Given the description of an element on the screen output the (x, y) to click on. 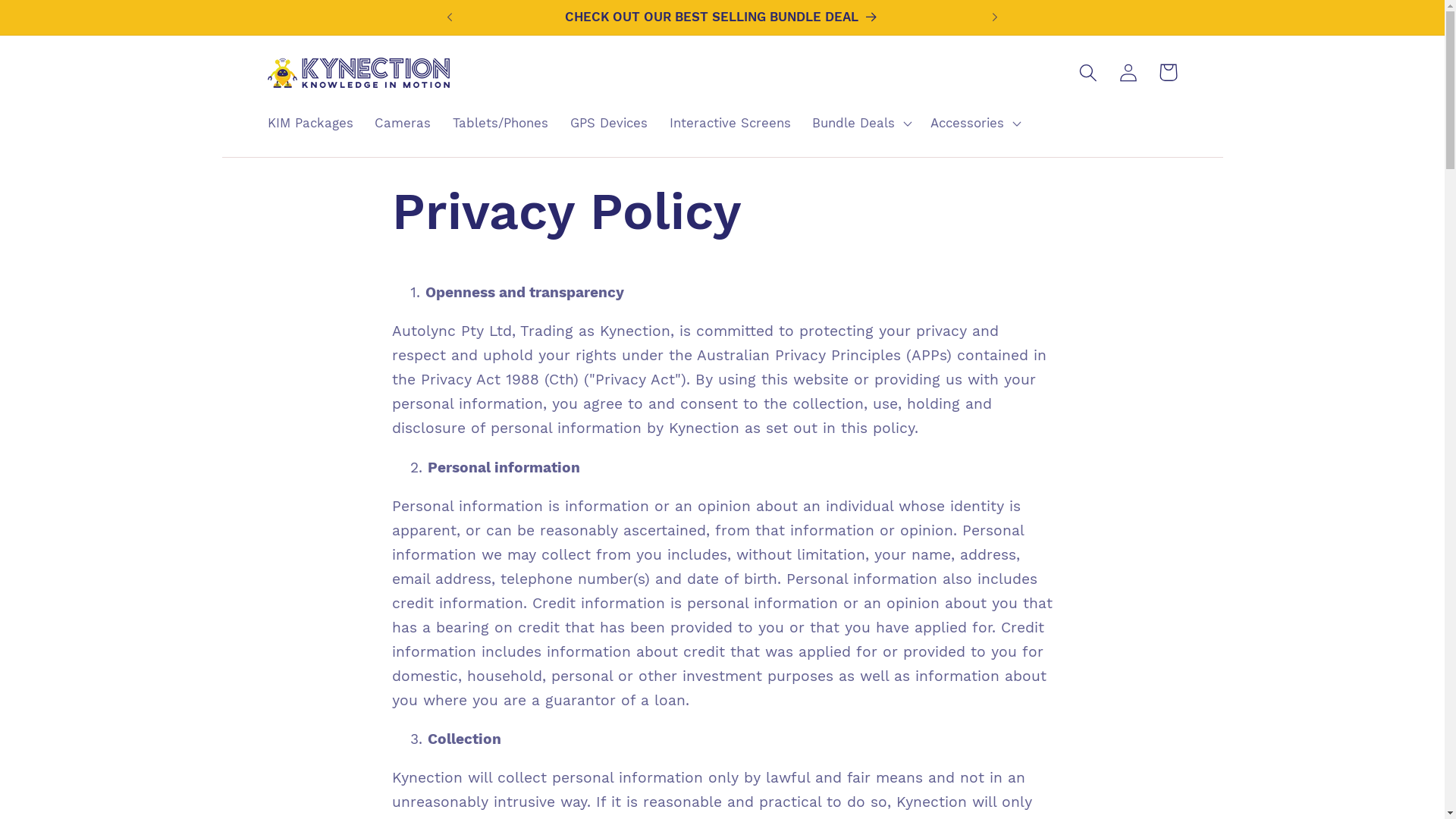
KIM Packages Element type: text (310, 122)
Tablets/Phones Element type: text (500, 122)
CHECK OUT OUR BEST SELLING BUNDLE DEAL Element type: text (744, 17)
Cart Element type: text (1168, 72)
Interactive Screens Element type: text (729, 122)
GPS Devices Element type: text (608, 122)
Log in Element type: text (1127, 72)
Cameras Element type: text (403, 122)
